Given the description of an element on the screen output the (x, y) to click on. 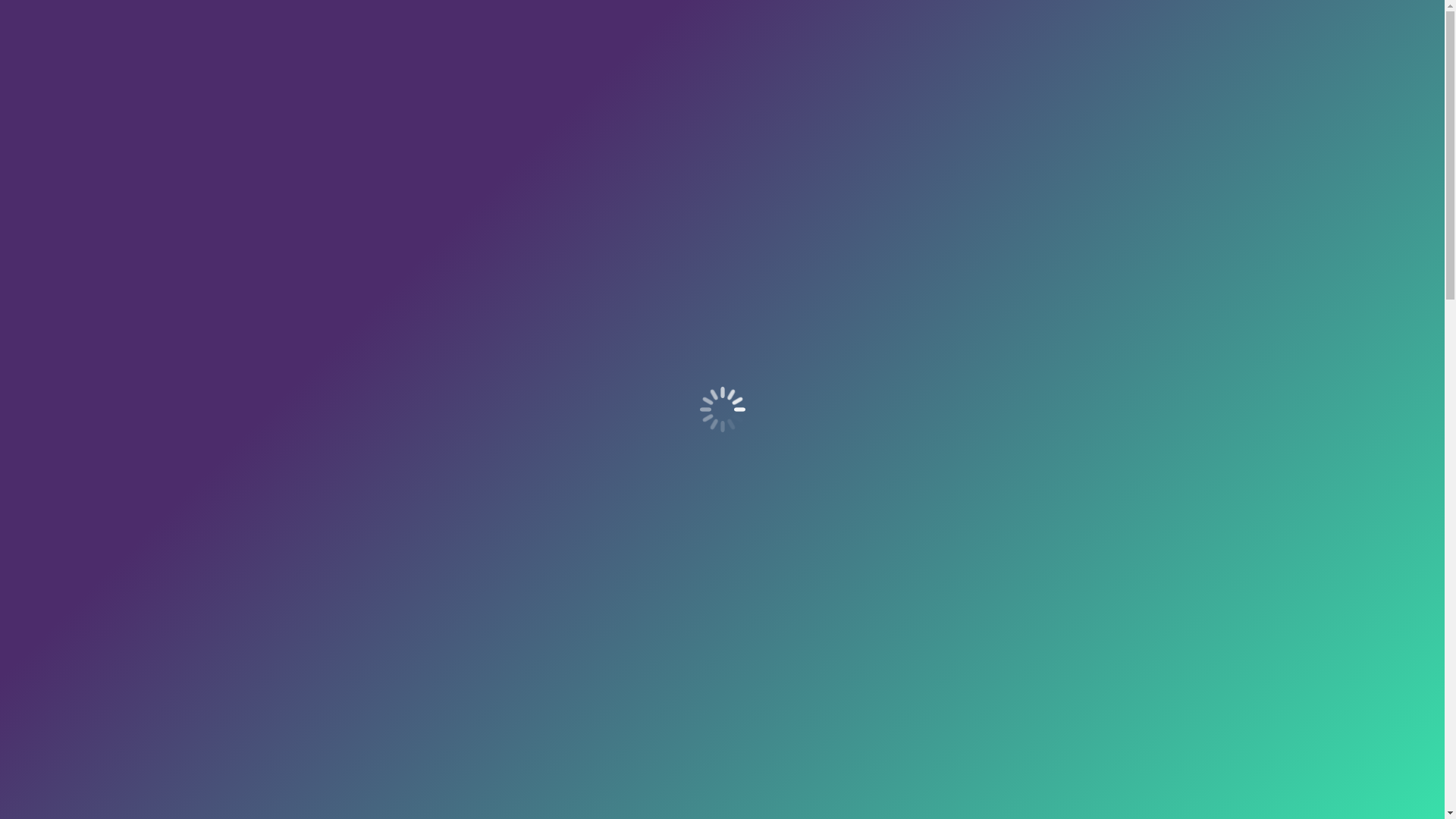
Go! (1153, 363)
X page opens in new window (1122, 13)
X page opens in new window (1122, 13)
Facebook page opens in new window (1144, 13)
Services (484, 64)
Press Releases (821, 64)
Meet us (643, 64)
Instagram page opens in new window (1167, 13)
Who we work with (998, 64)
Our news (721, 64)
07748 631100 (926, 12)
Home (414, 64)
1:34 pm (869, 386)
Facebook page opens in new window (1144, 13)
Packages (565, 64)
